Given the description of an element on the screen output the (x, y) to click on. 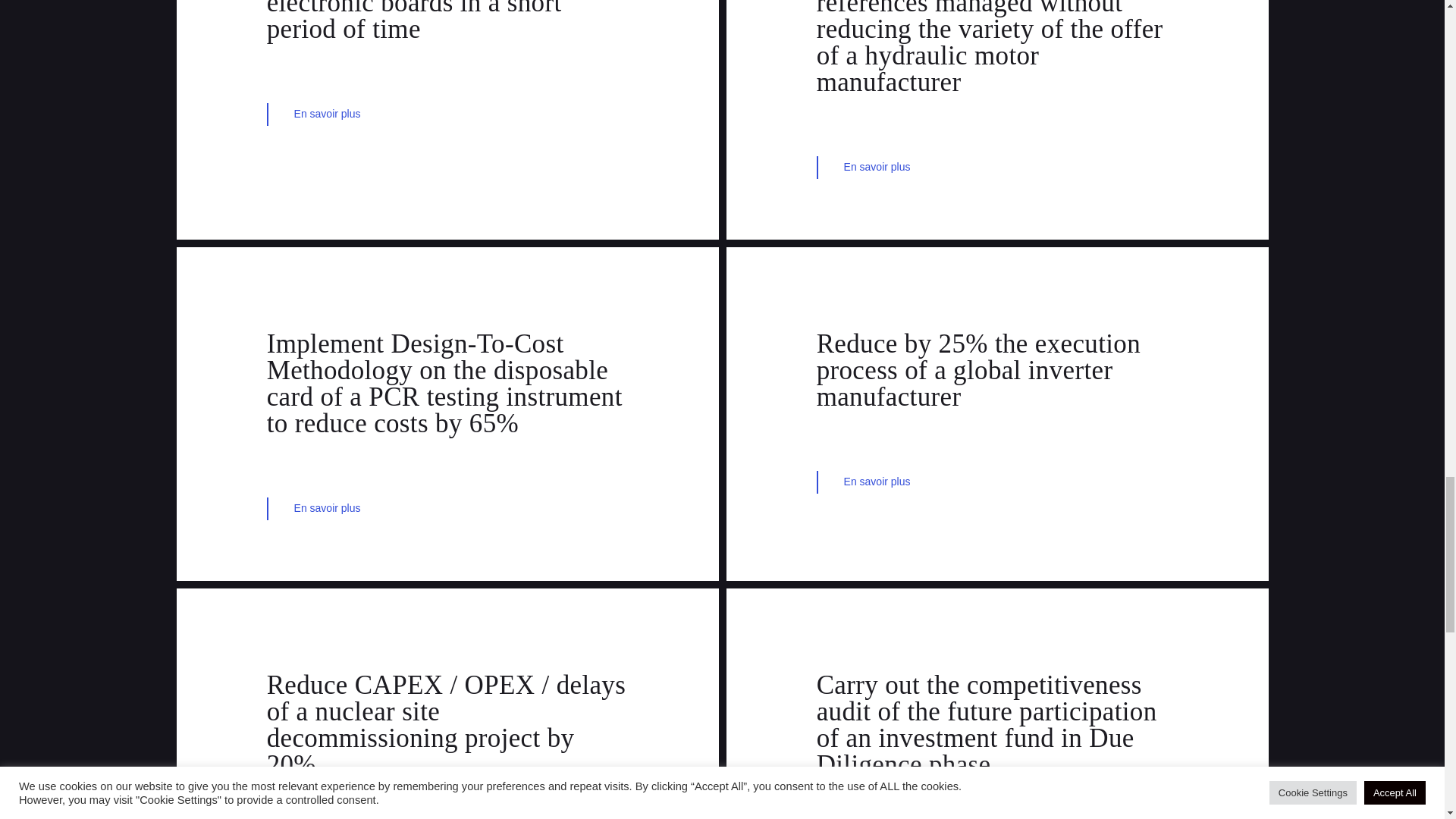
En savoir plus (996, 167)
En savoir plus (447, 114)
